Given the description of an element on the screen output the (x, y) to click on. 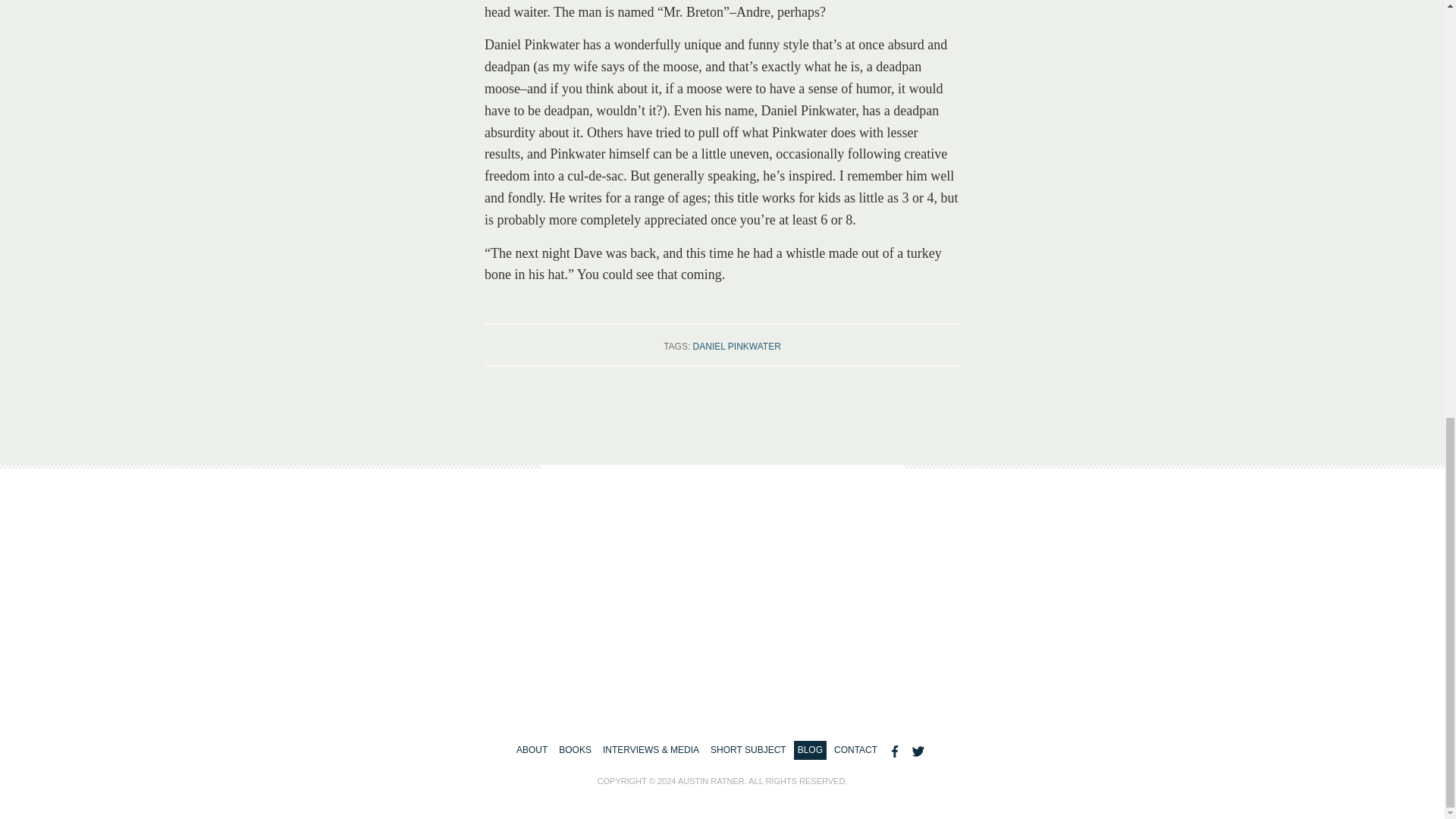
ABOUT (531, 750)
BOOKS (574, 750)
SHORT SUBJECT (748, 750)
DANIEL PINKWATER (736, 346)
BLOG (810, 750)
CONTACT (854, 750)
